Given the description of an element on the screen output the (x, y) to click on. 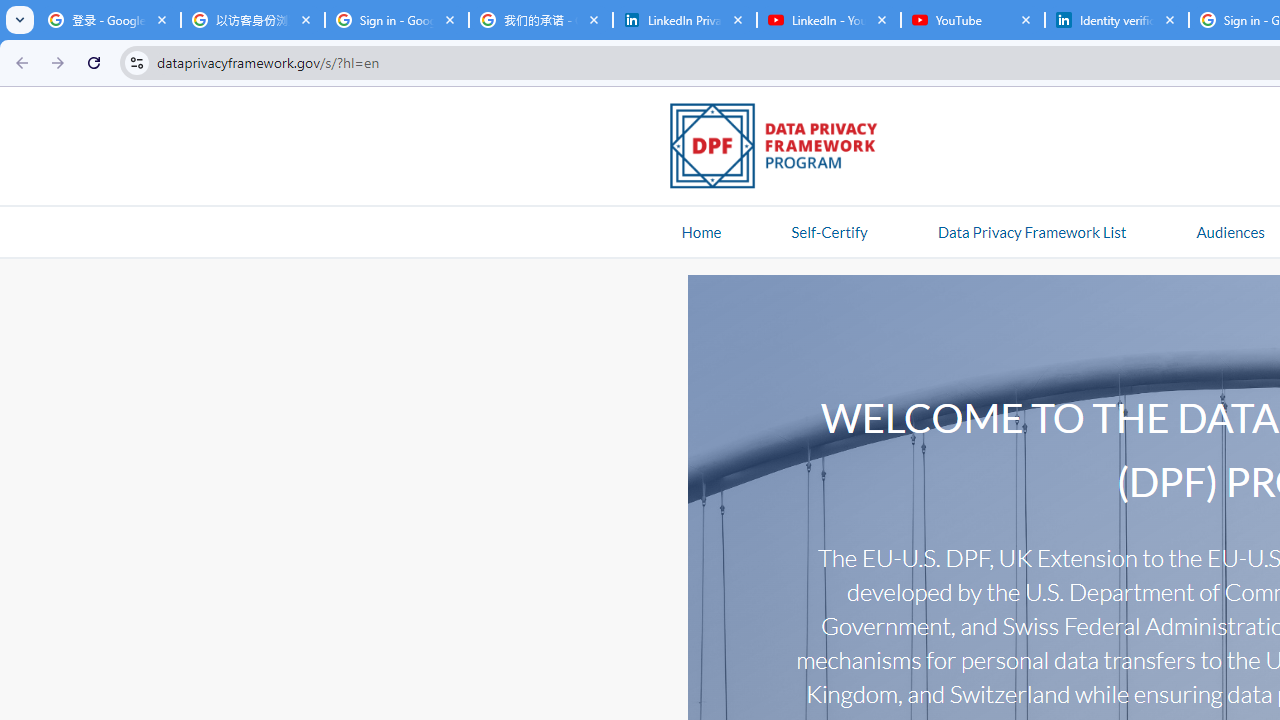
Audiences (1230, 231)
LinkedIn - YouTube (828, 20)
Data Privacy Framework Logo - Link to Homepage (783, 149)
Self-Certify (829, 231)
AutomationID: navitem (1230, 231)
Home (701, 231)
